Given the description of an element on the screen output the (x, y) to click on. 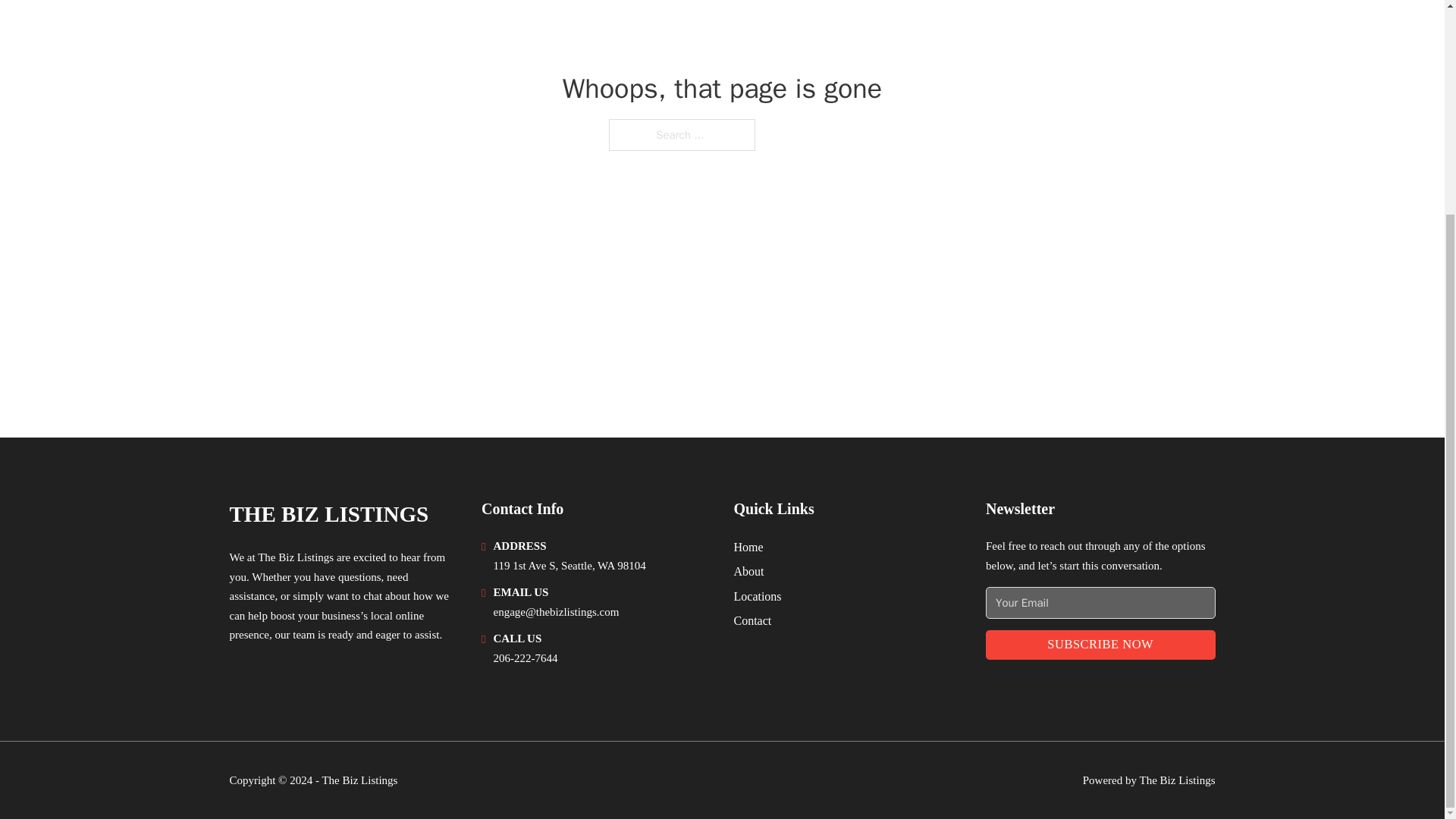
Contact (752, 620)
206-222-7644 (525, 657)
Home (747, 547)
SUBSCRIBE NOW (1100, 644)
THE BIZ LISTINGS (328, 514)
Locations (757, 596)
About (748, 571)
